Given the description of an element on the screen output the (x, y) to click on. 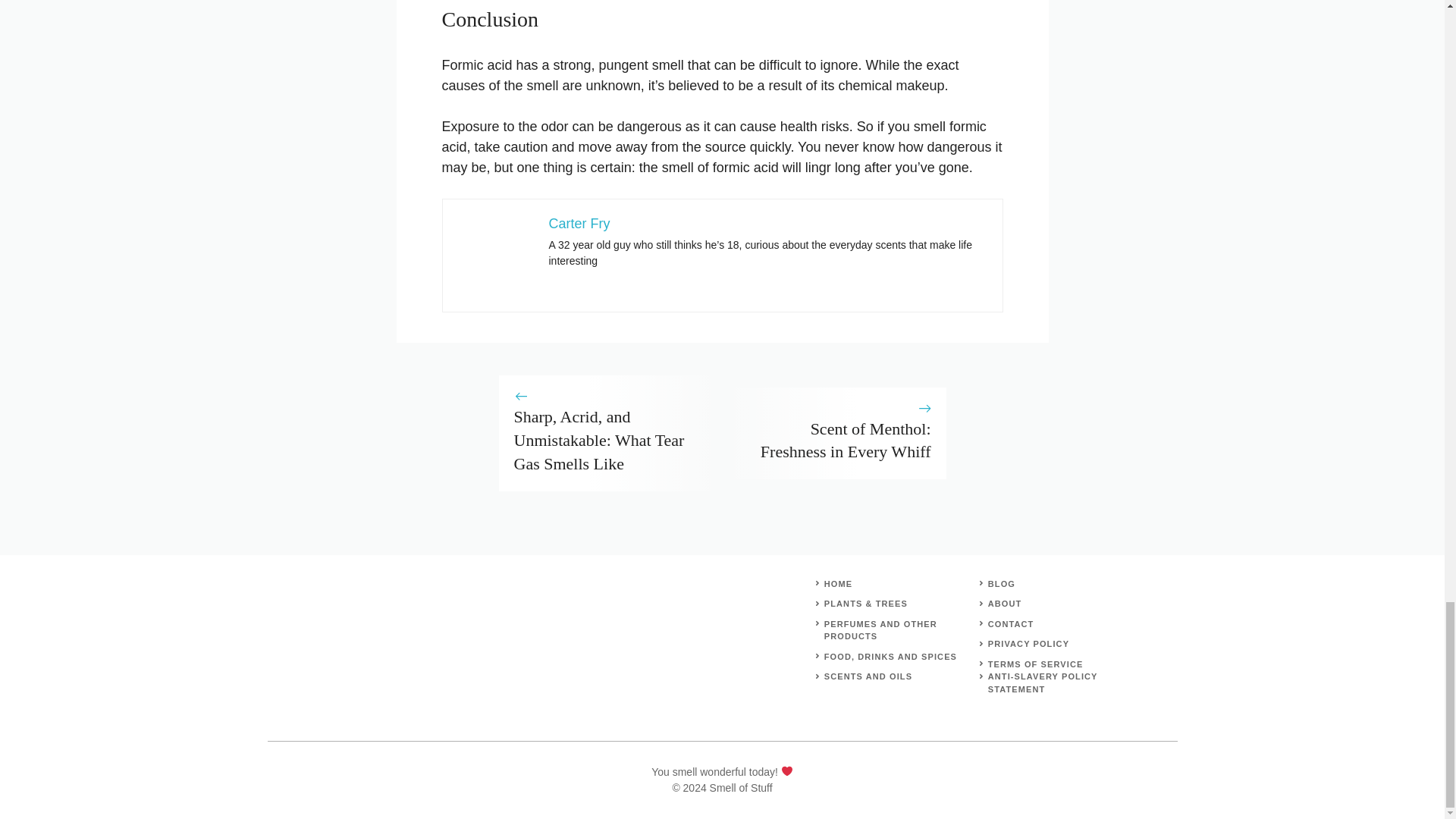
Carter Fry (579, 223)
SCENTS AND OILS (868, 675)
PERFUMES AND OTHER PRODUCTS (880, 630)
Scent of Menthol: Freshness in Every Whiff (845, 440)
Sharp, Acrid, and Unmistakable: What Tear Gas Smells Like (598, 440)
BLOG (1001, 583)
FOOD, DRINKS AND SPICES (890, 655)
HOME (837, 583)
